Given the description of an element on the screen output the (x, y) to click on. 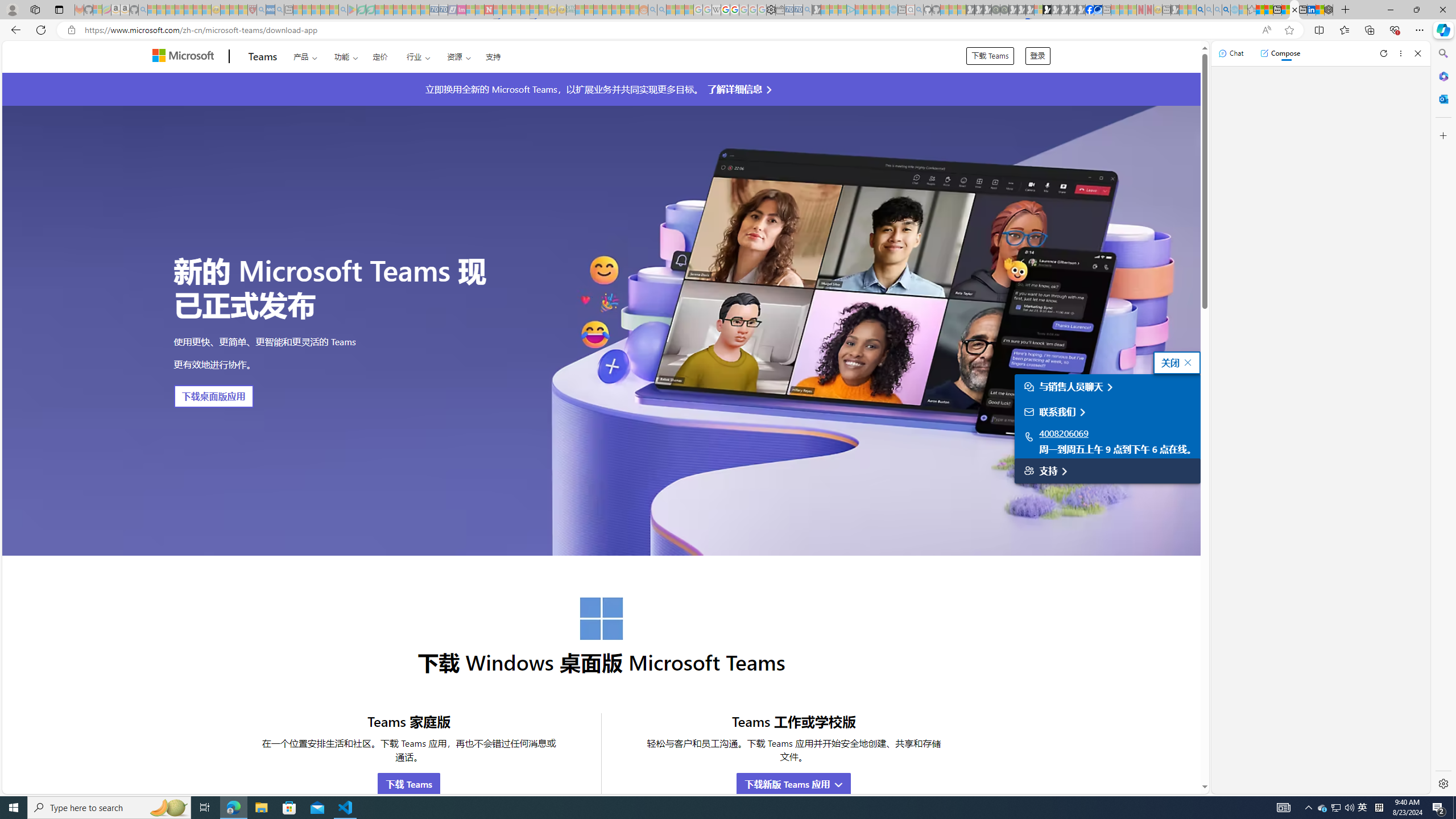
Teams (262, 56)
